Given the description of an element on the screen output the (x, y) to click on. 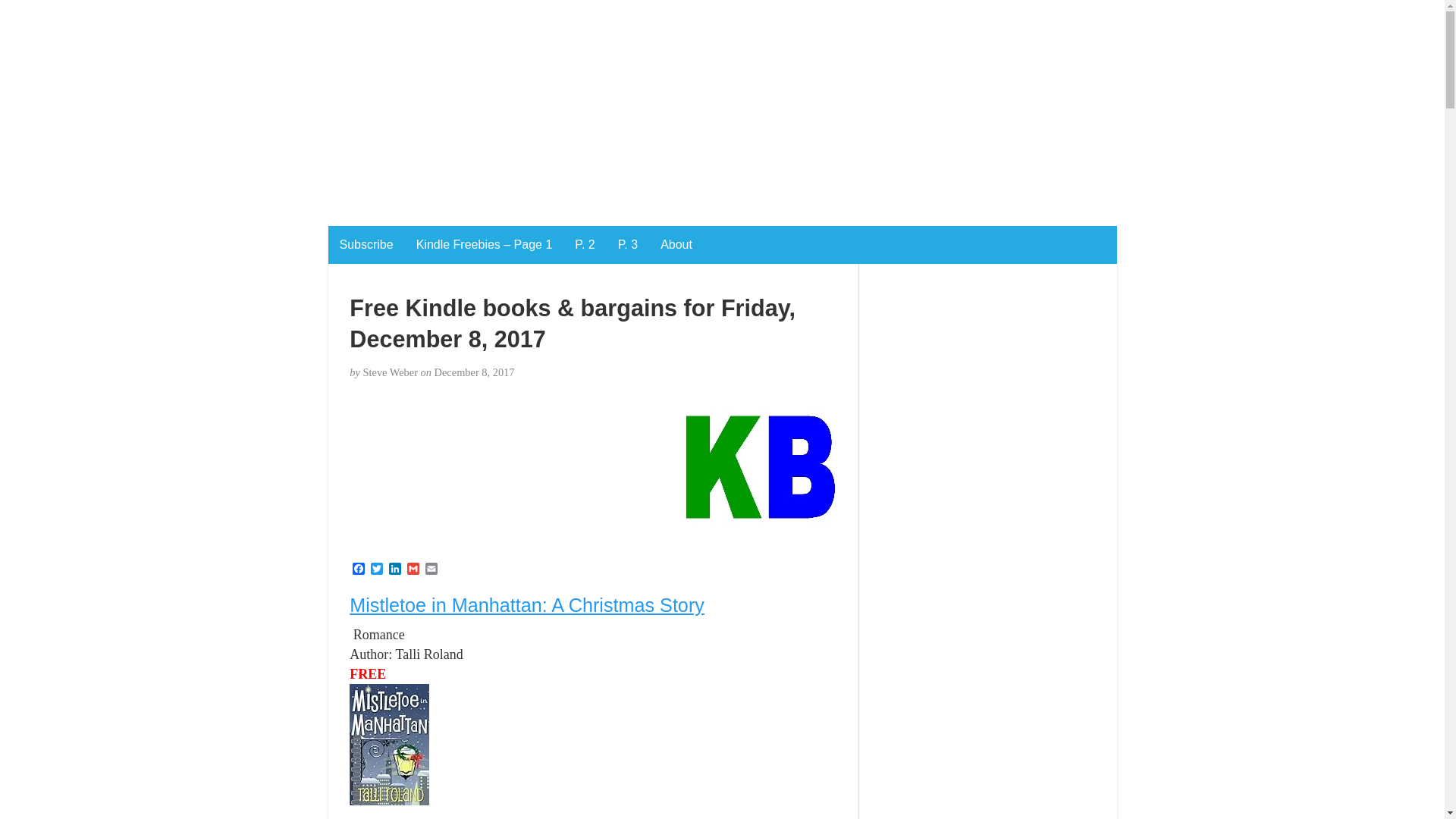
Twitter (376, 569)
Subscribe (365, 244)
About (676, 244)
Gmail (413, 569)
Subscribe (365, 244)
Mistletoe in Manhattan: A Christmas Story (526, 604)
Gmail (413, 569)
P. 3 (628, 244)
Email (431, 569)
LinkedIn (394, 569)
Facebook (358, 569)
Kindle Freebies - Page 1 (484, 244)
P. 2 (584, 244)
About (676, 244)
